Given the description of an element on the screen output the (x, y) to click on. 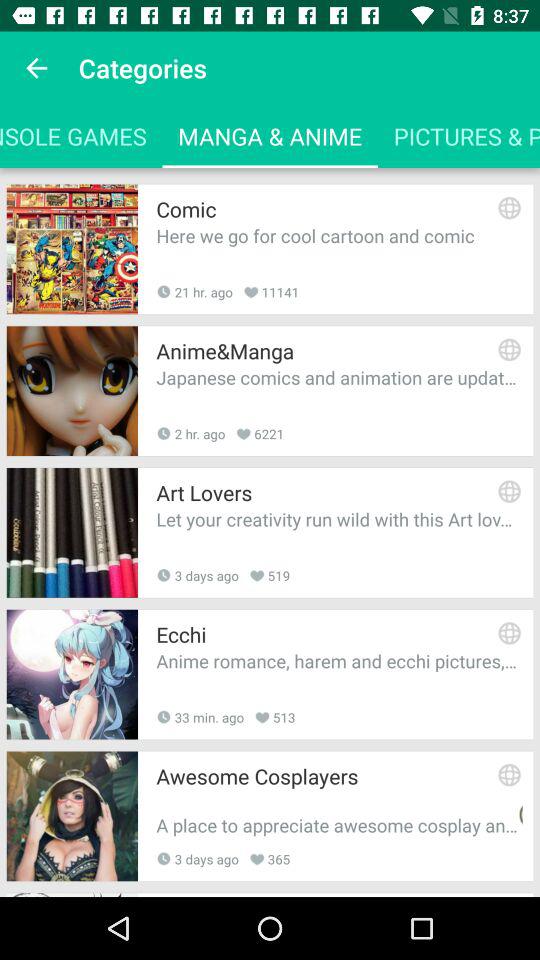
turn off the icon next to the categories item (36, 68)
